Given the description of an element on the screen output the (x, y) to click on. 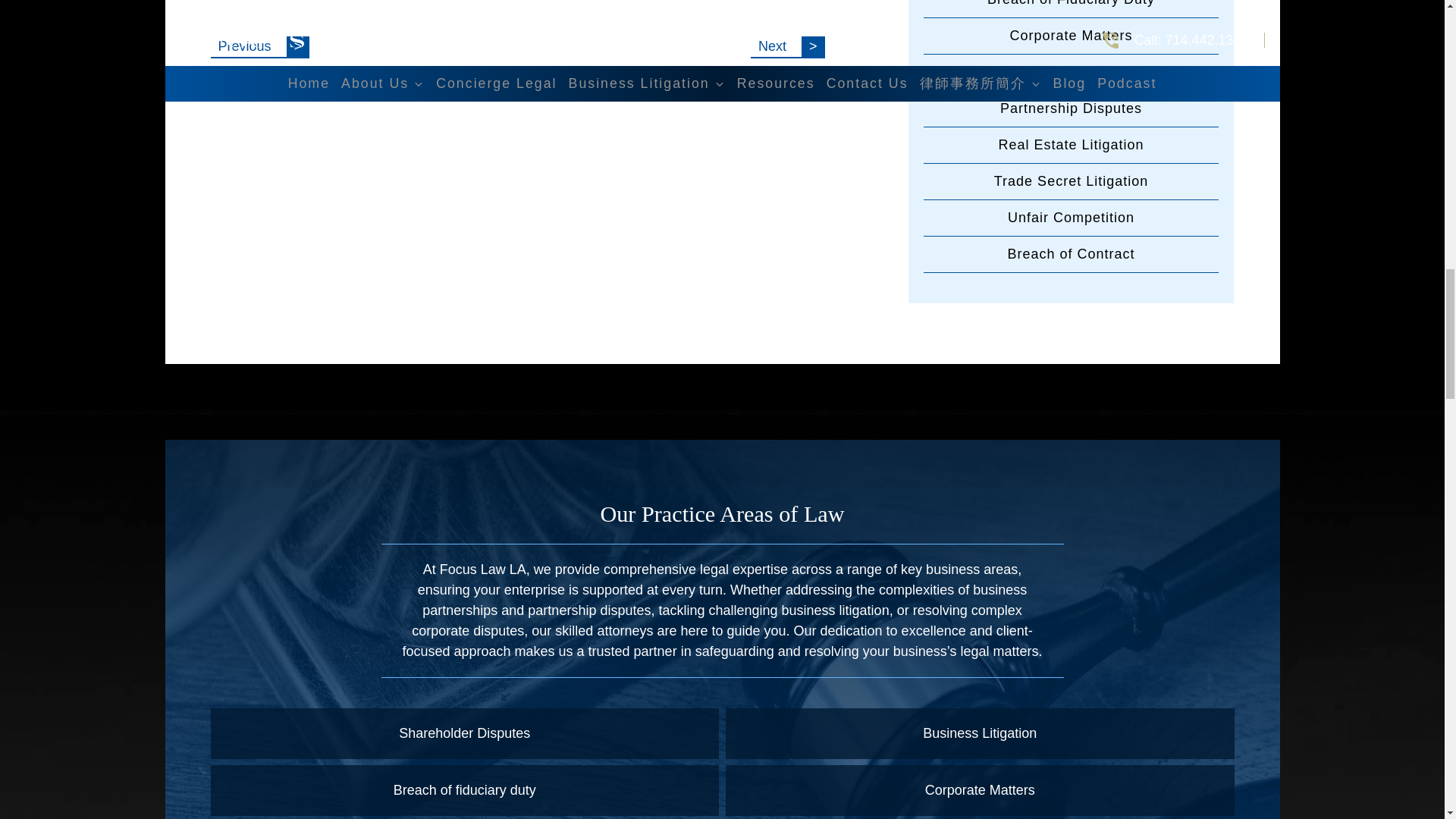
Next (788, 47)
Previous (260, 47)
